Given the description of an element on the screen output the (x, y) to click on. 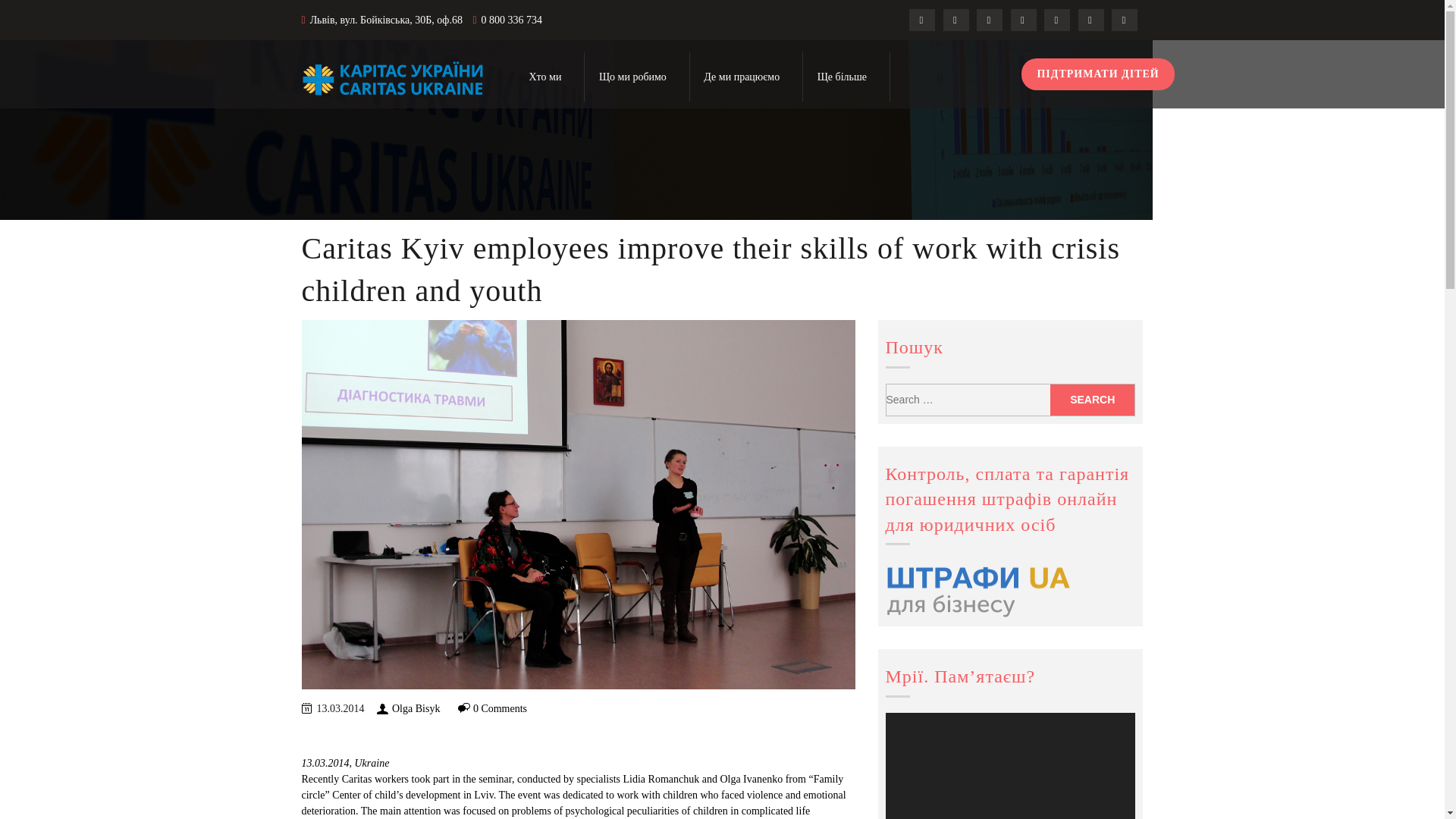
Search (1092, 399)
Search (1092, 399)
